Given the description of an element on the screen output the (x, y) to click on. 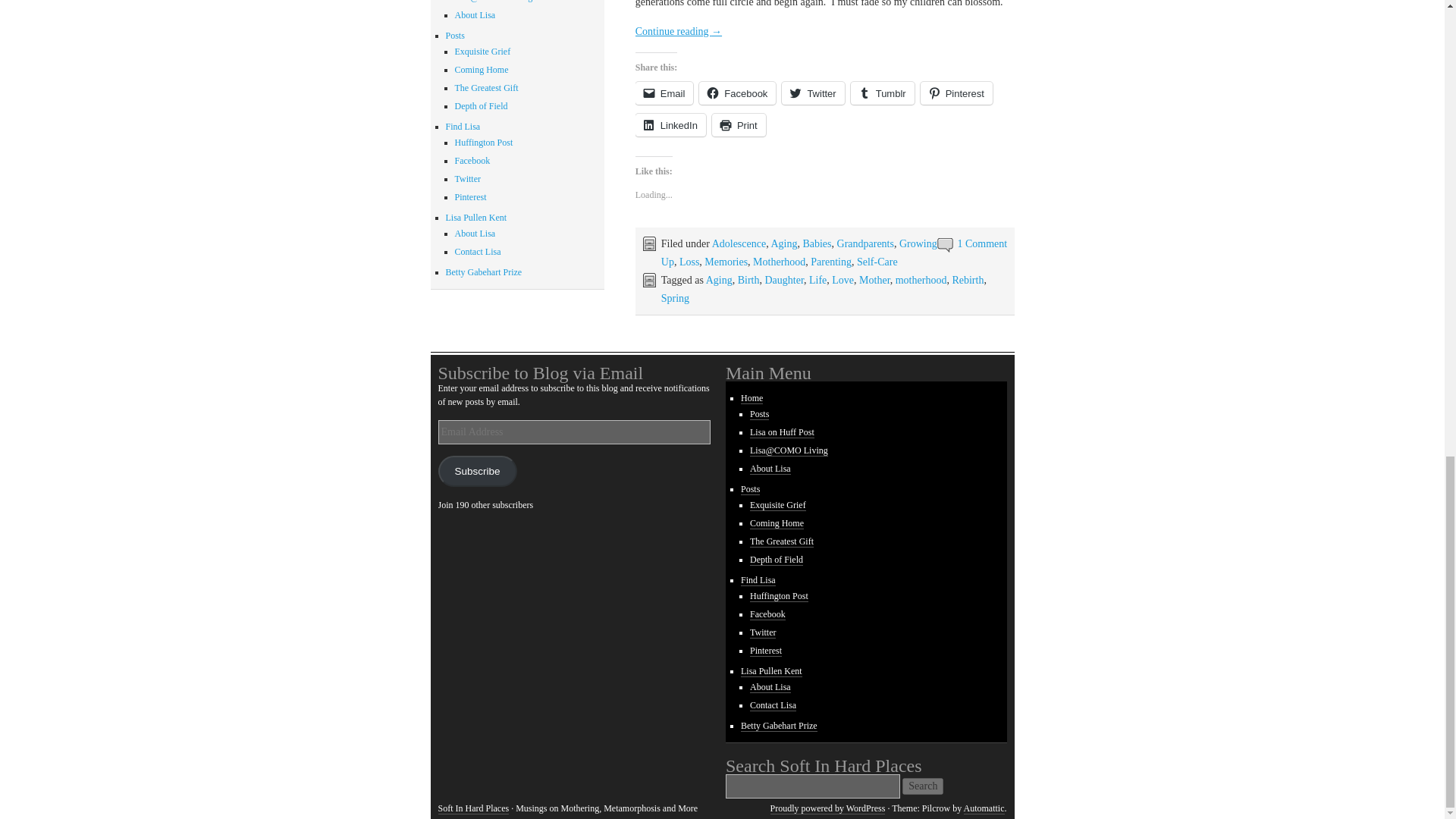
Grandparents (865, 243)
Click to share on Facebook (737, 92)
Pinterest (956, 92)
Aging (783, 243)
Click to share on LinkedIn (670, 124)
Print (738, 124)
Click to share on Twitter (812, 92)
Click to share on Pinterest (956, 92)
Twitter (812, 92)
Click to print (738, 124)
